Given the description of an element on the screen output the (x, y) to click on. 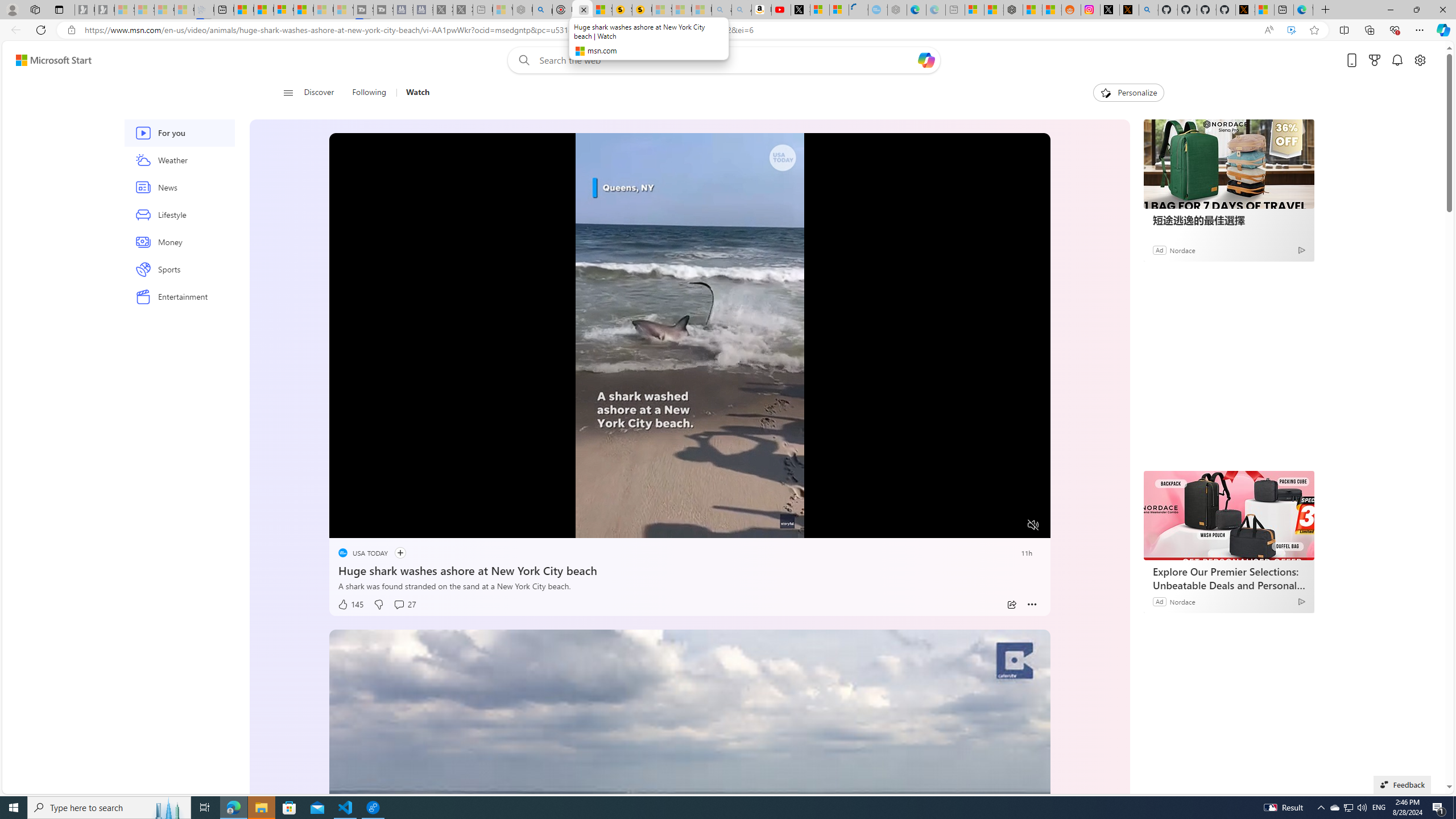
Pause (346, 525)
Seek Back (368, 525)
